Given the description of an element on the screen output the (x, y) to click on. 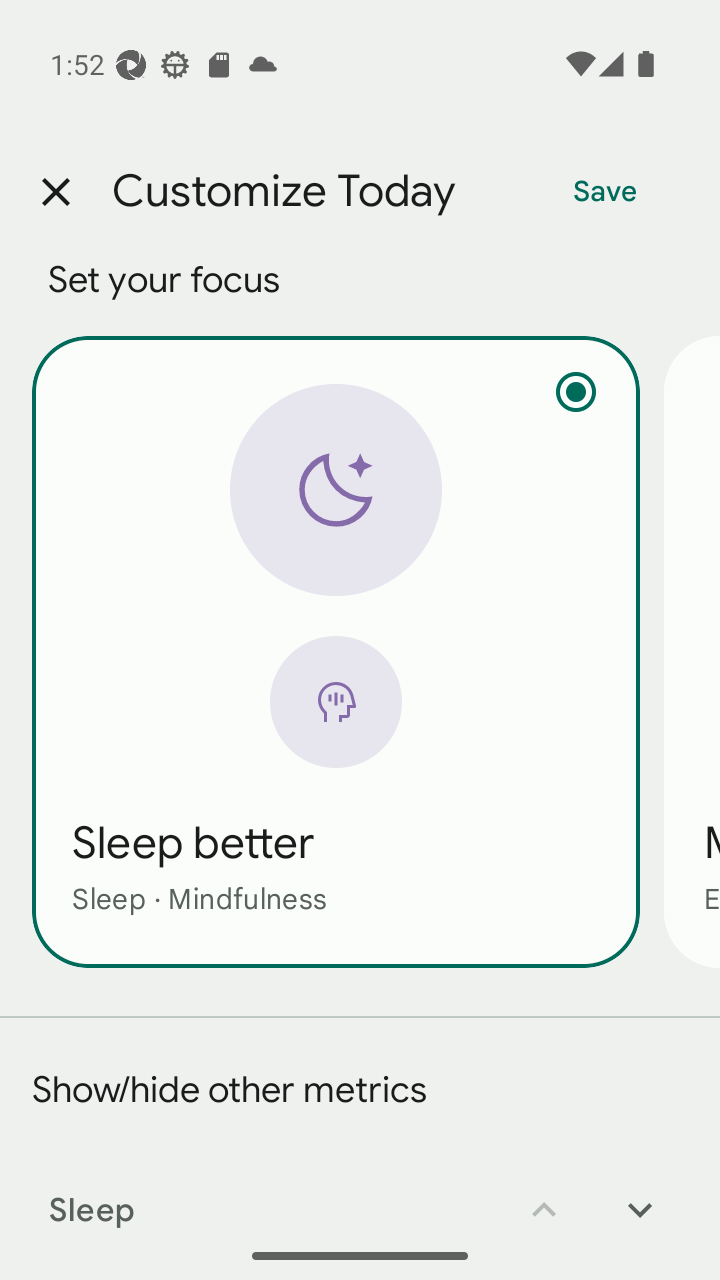
Close (55, 191)
Save (605, 191)
Sleep better Sleep · Mindfulness (335, 651)
Move Sleep up (543, 1196)
Move Sleep down (639, 1196)
